Given the description of an element on the screen output the (x, y) to click on. 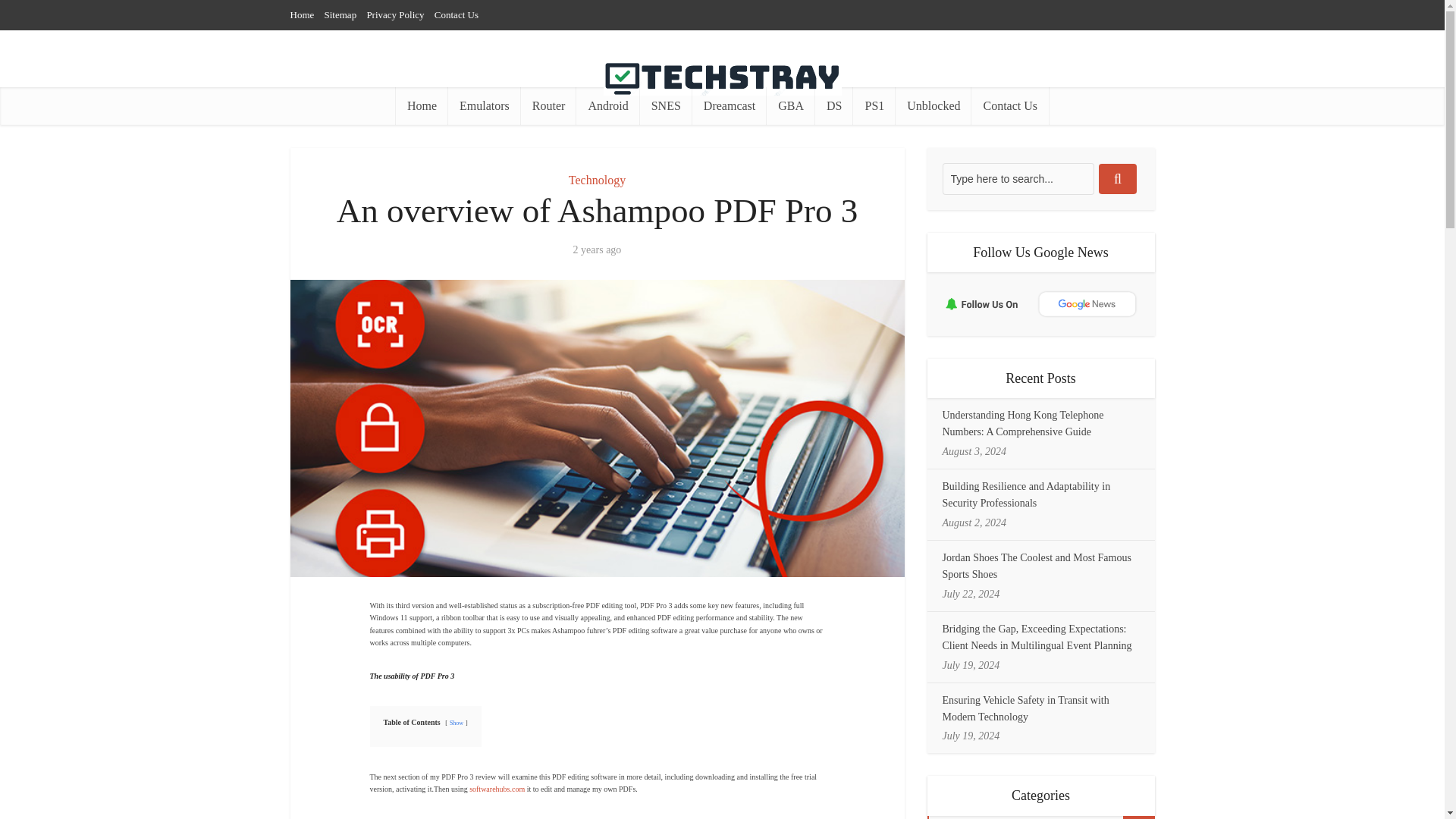
softwarehubs.com (496, 788)
Show (456, 722)
Emulators (484, 105)
Contact Us (1009, 105)
Contact Us (456, 14)
Home (301, 14)
Sitemap (340, 14)
PS1 (874, 105)
Type here to search... (1017, 178)
GBA (791, 105)
